Given the description of an element on the screen output the (x, y) to click on. 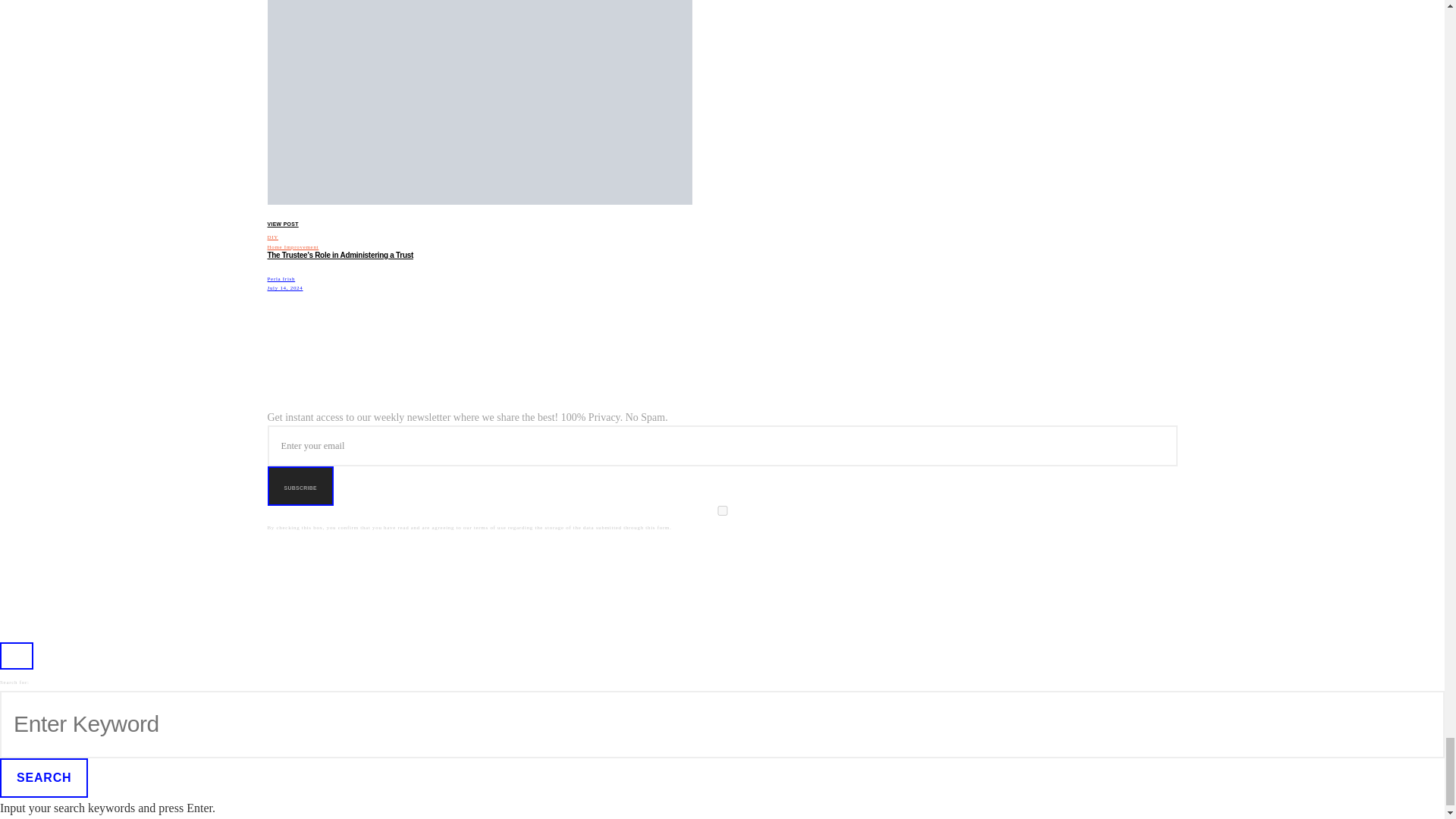
View all posts by Perla Irish (280, 278)
